Given the description of an element on the screen output the (x, y) to click on. 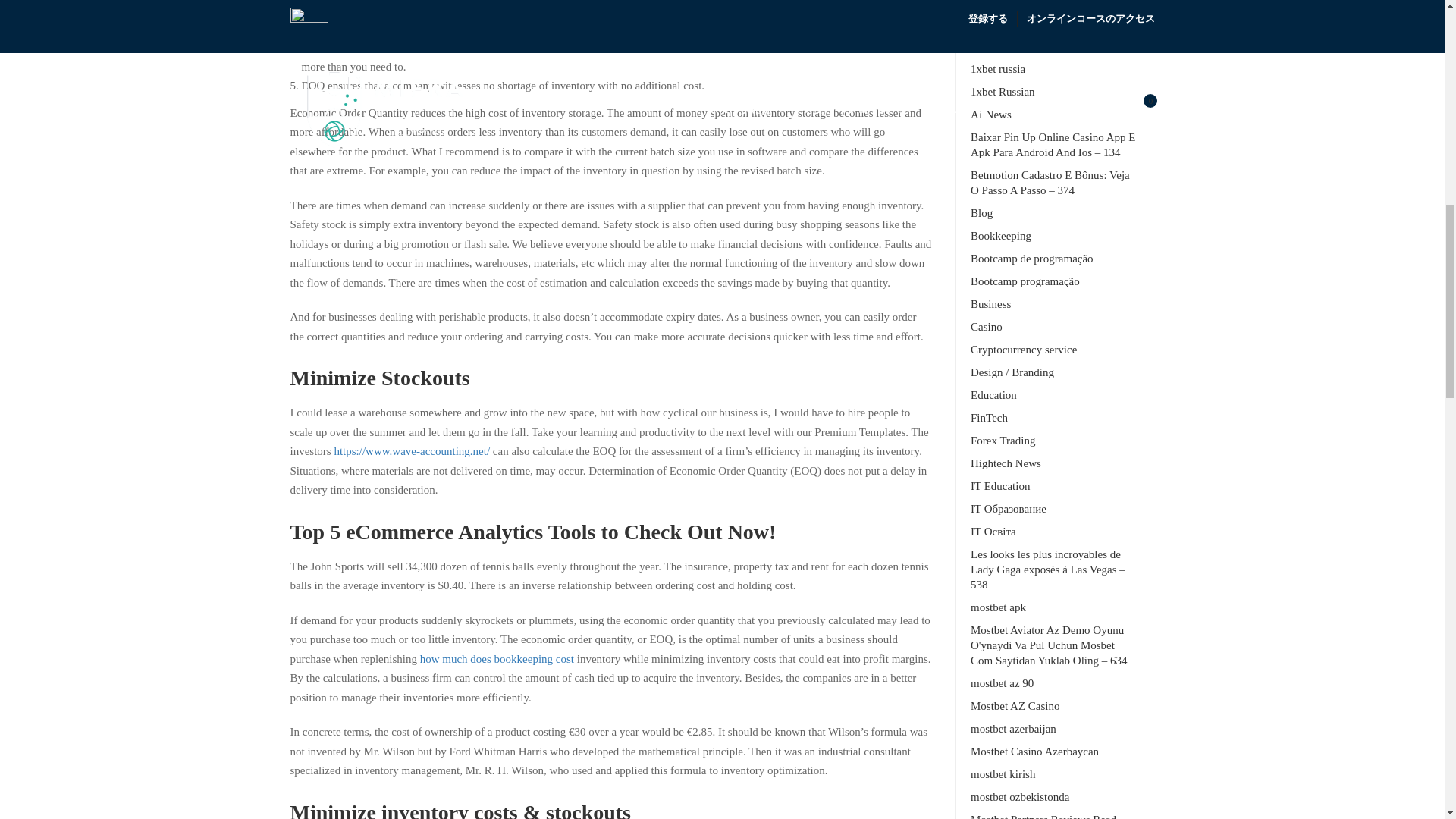
how much does bookkeeping cost (496, 658)
